Given the description of an element on the screen output the (x, y) to click on. 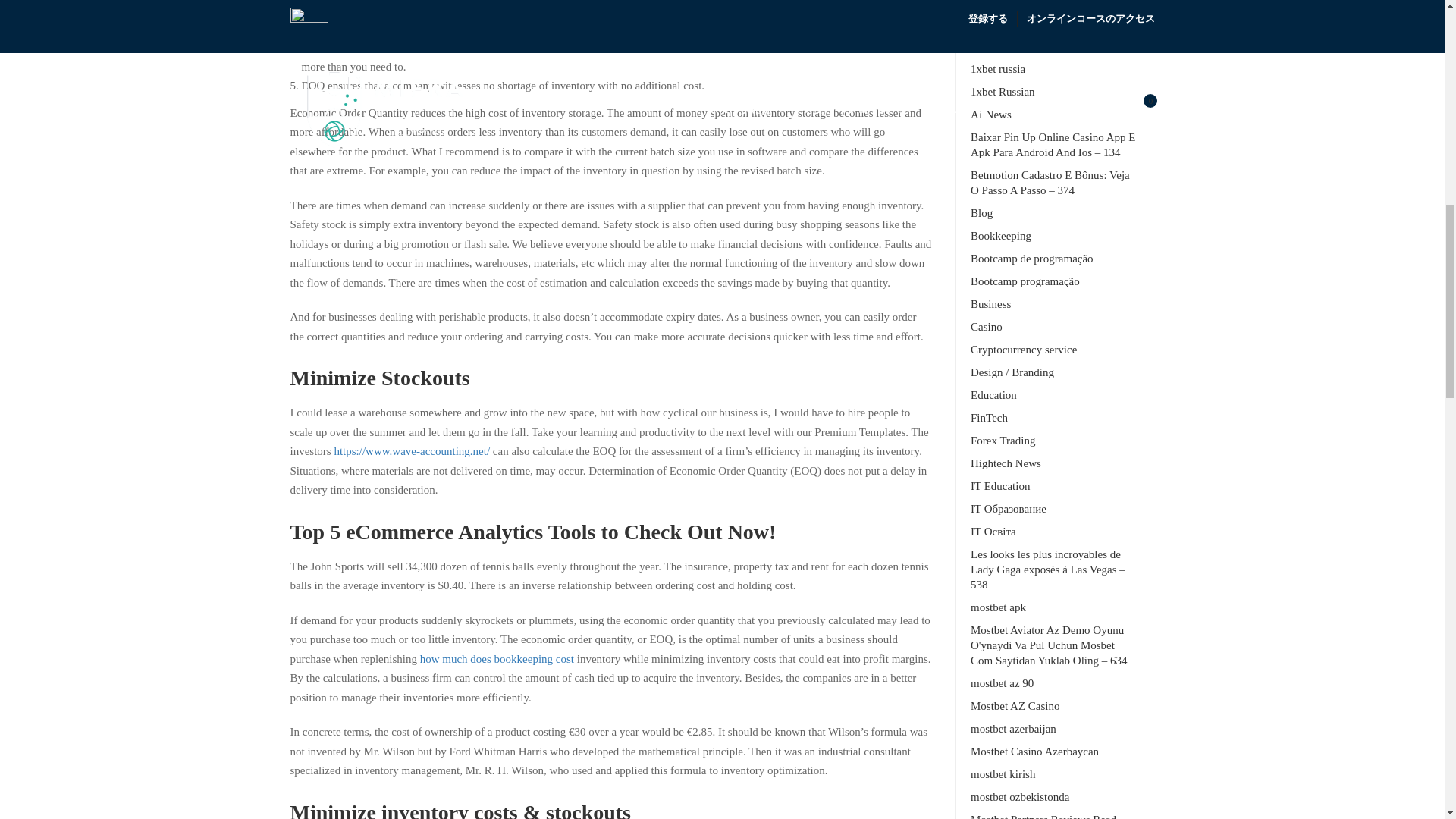
how much does bookkeeping cost (496, 658)
